Given the description of an element on the screen output the (x, y) to click on. 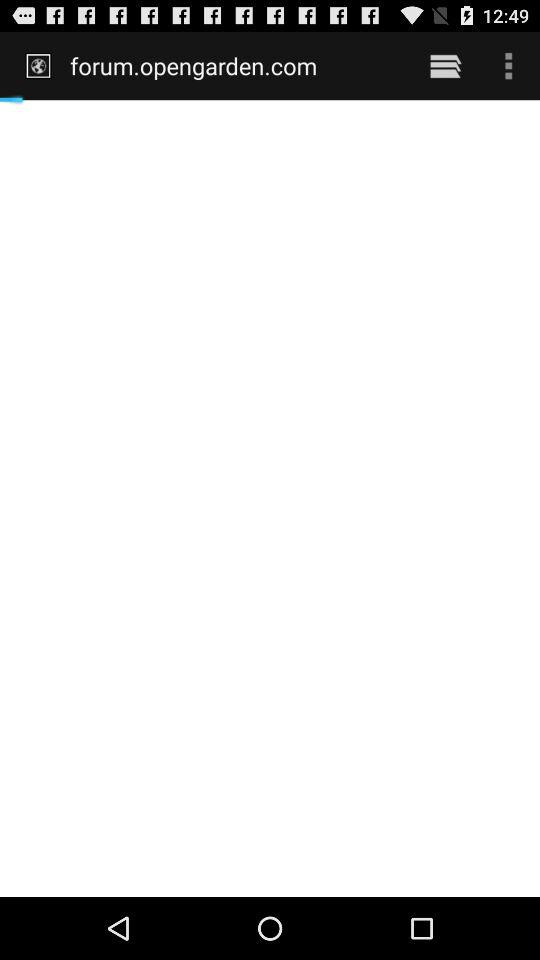
press forum.opengarden.com icon (235, 65)
